Given the description of an element on the screen output the (x, y) to click on. 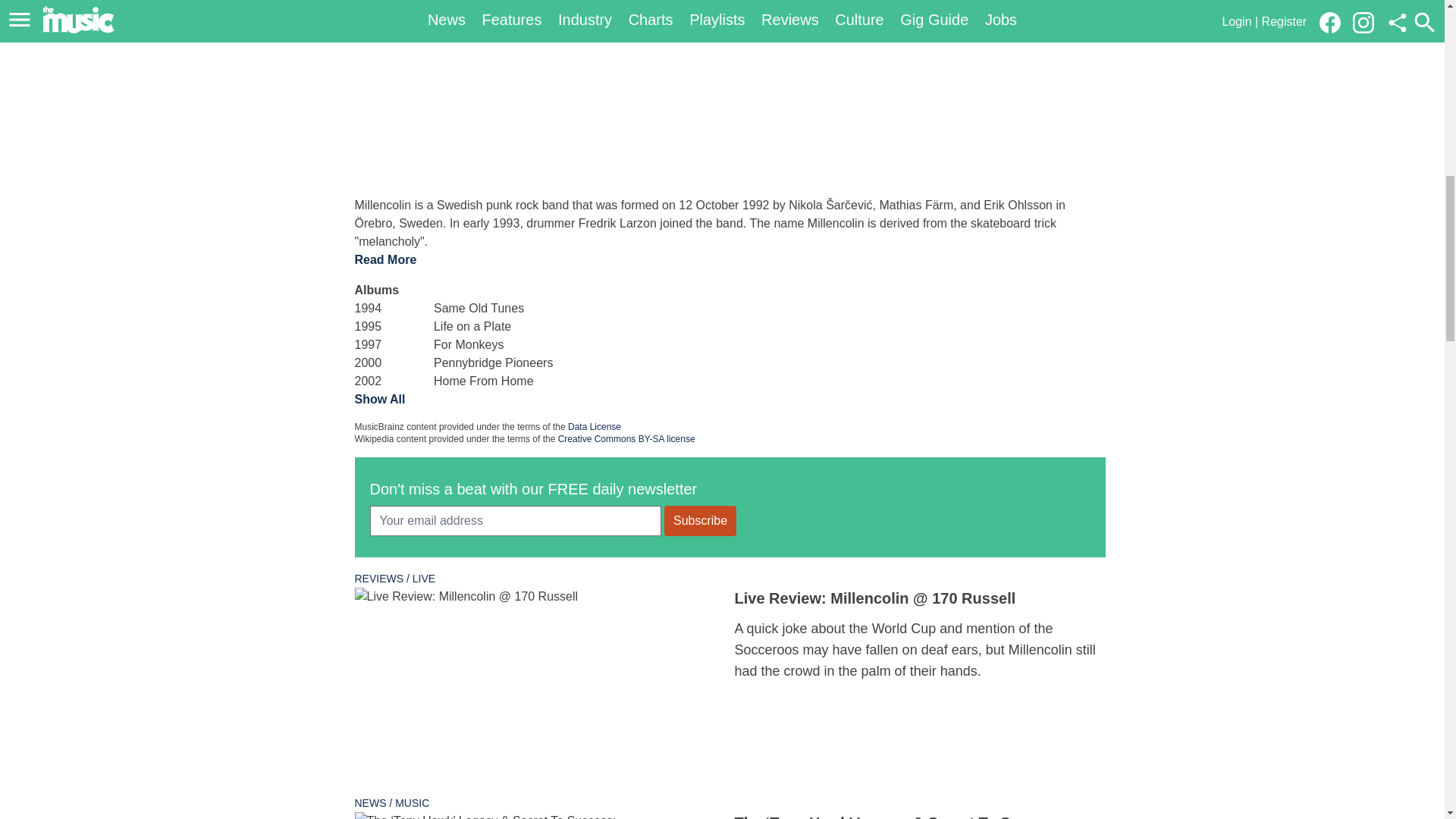
Subscribe (699, 521)
Creative Commons BY-SA license (626, 439)
Read More (385, 259)
Show All (380, 399)
Data License (594, 426)
